Given the description of an element on the screen output the (x, y) to click on. 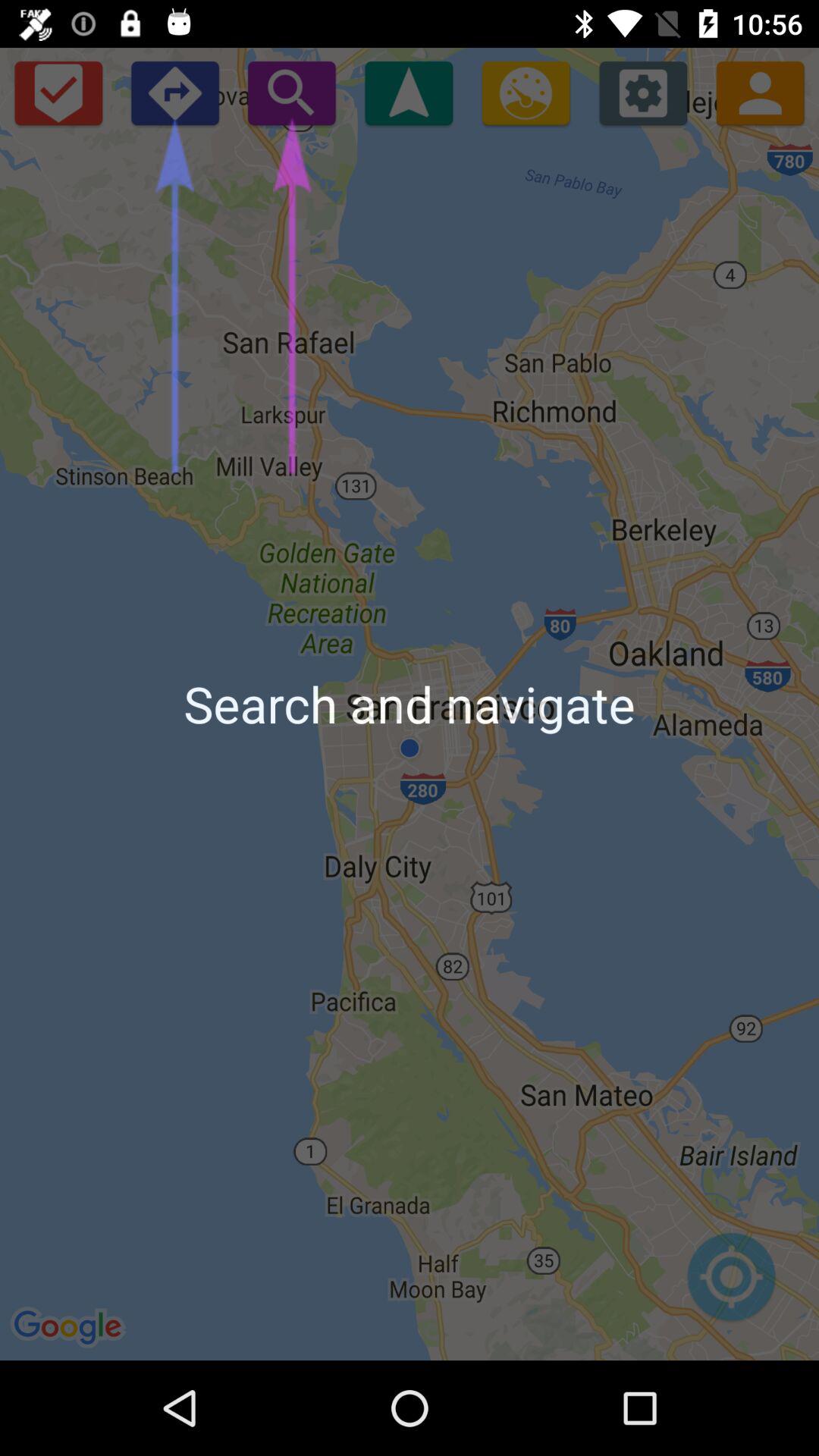
search option (291, 92)
